Given the description of an element on the screen output the (x, y) to click on. 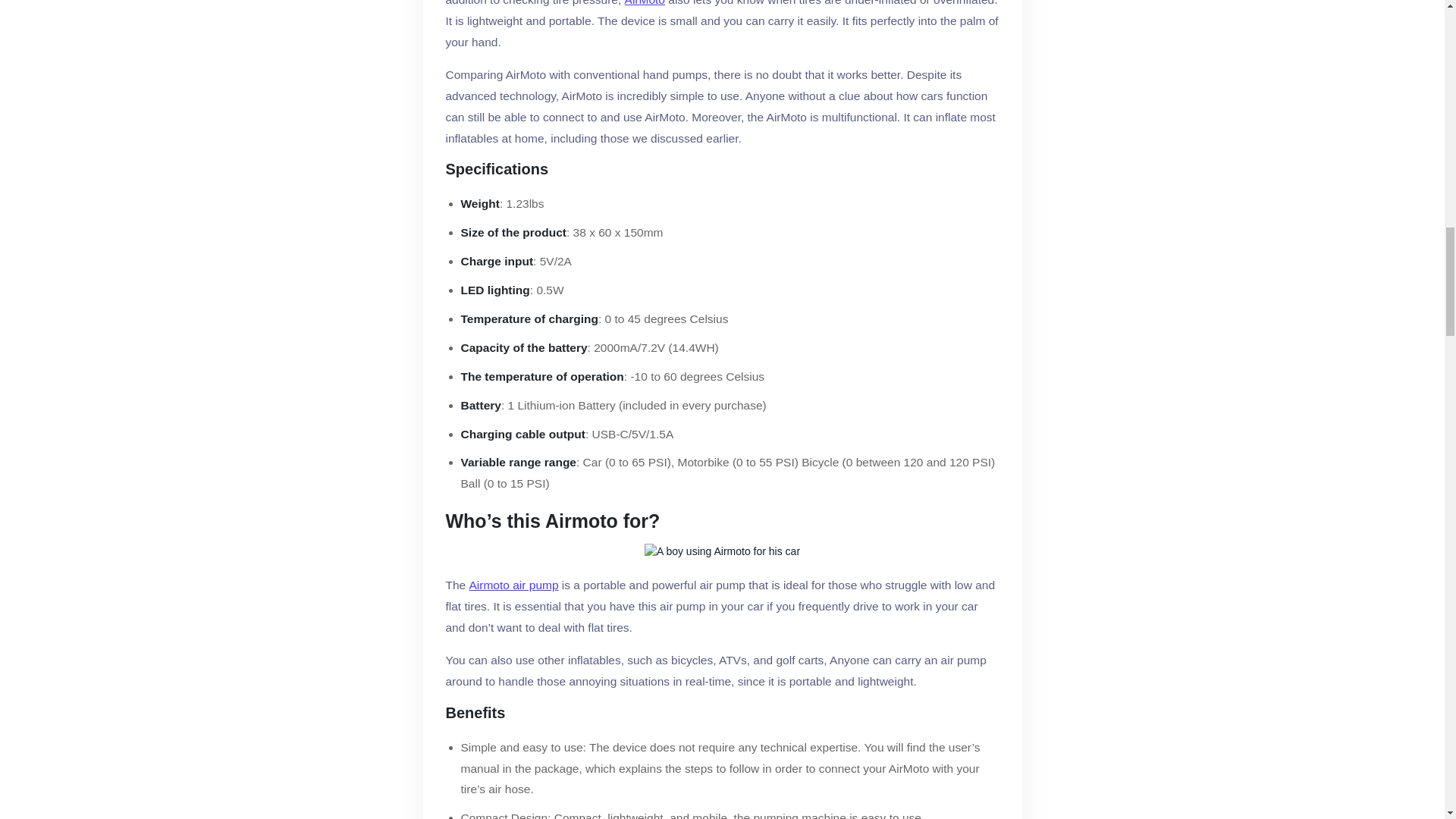
Airmoto air pump (513, 585)
AirMoto (644, 5)
